Given the description of an element on the screen output the (x, y) to click on. 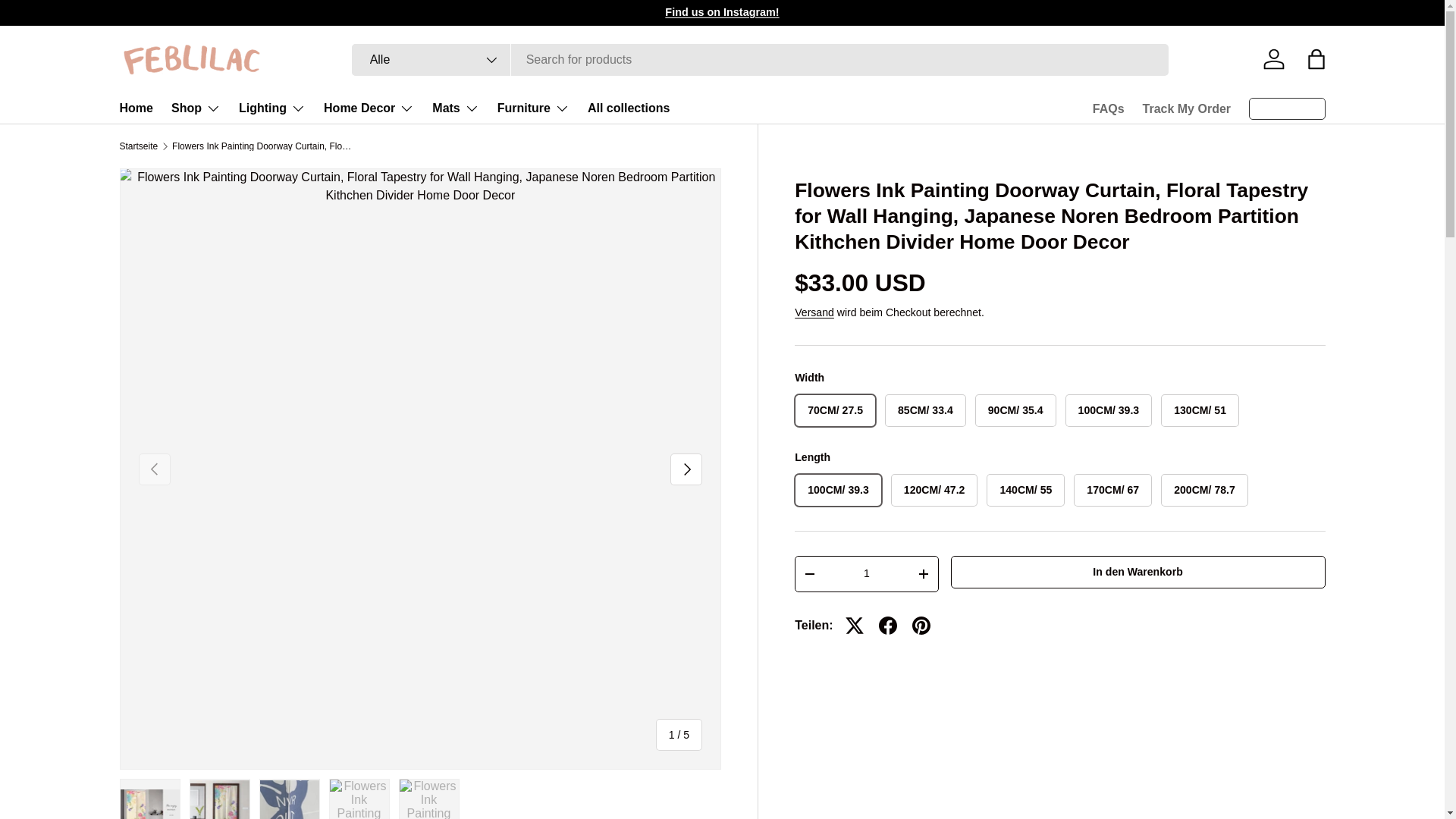
Shop (196, 108)
Auf Pinterest pinnen (920, 625)
Find us on Instagram! (721, 11)
Auf Facebook teilen (887, 625)
Home (135, 107)
1 (866, 572)
Direkt zum Inhalt (68, 21)
Auf Twitter twittern (854, 625)
Einkaufstasche (1316, 59)
Einloggen (1273, 59)
Alle (431, 60)
